Given the description of an element on the screen output the (x, y) to click on. 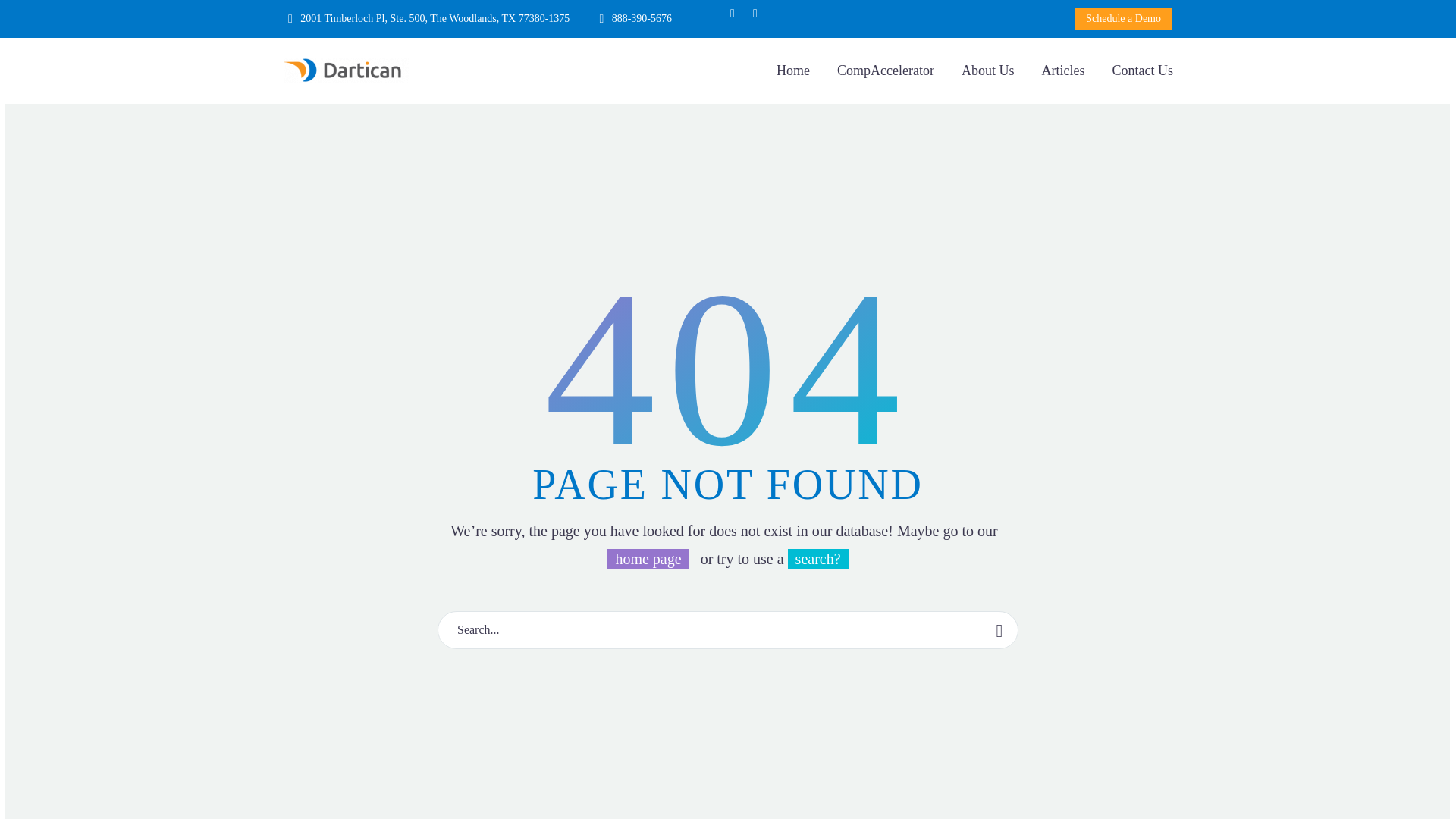
LinkedIn (755, 13)
404 (727, 365)
Schedule a Demo (1123, 18)
About Us (988, 70)
Facebook (732, 13)
888-390-5676 (641, 18)
Contact Us (1142, 70)
home page (647, 558)
search? (817, 558)
Home (793, 70)
